Given the description of an element on the screen output the (x, y) to click on. 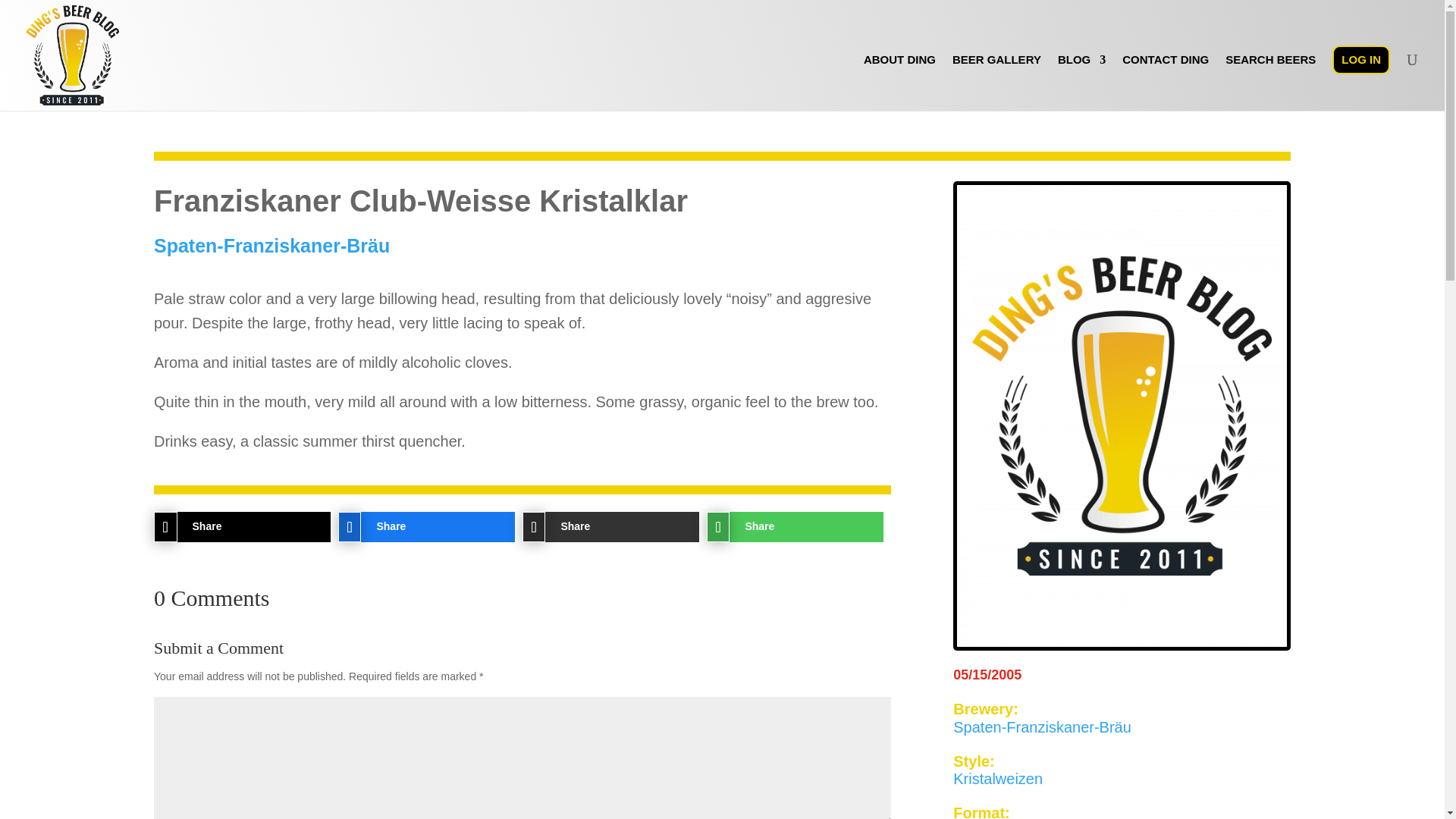
BEER GALLERY (996, 82)
Kristalweizen (997, 778)
CONTACT DING (1165, 82)
Share (783, 526)
ABOUT DING (899, 82)
Share (230, 526)
Share (599, 526)
Share (414, 526)
SEARCH BEERS (1270, 82)
LOG IN (1361, 59)
